Given the description of an element on the screen output the (x, y) to click on. 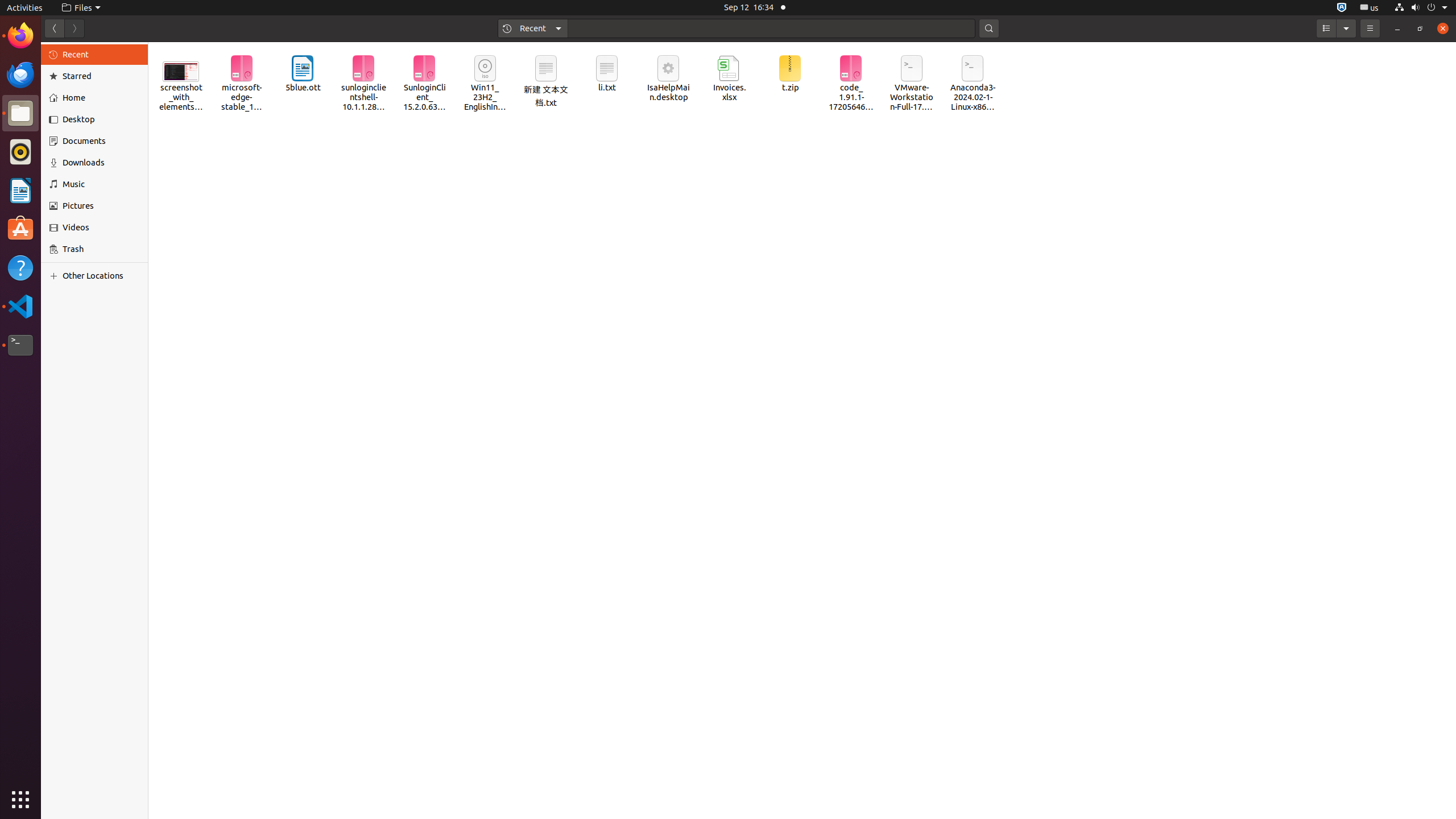
IsaHelpMain.desktop Element type: canvas (668, 78)
Activities Element type: label (24, 7)
Pictures Element type: label (100, 205)
Starred Element type: label (100, 75)
